Given the description of an element on the screen output the (x, y) to click on. 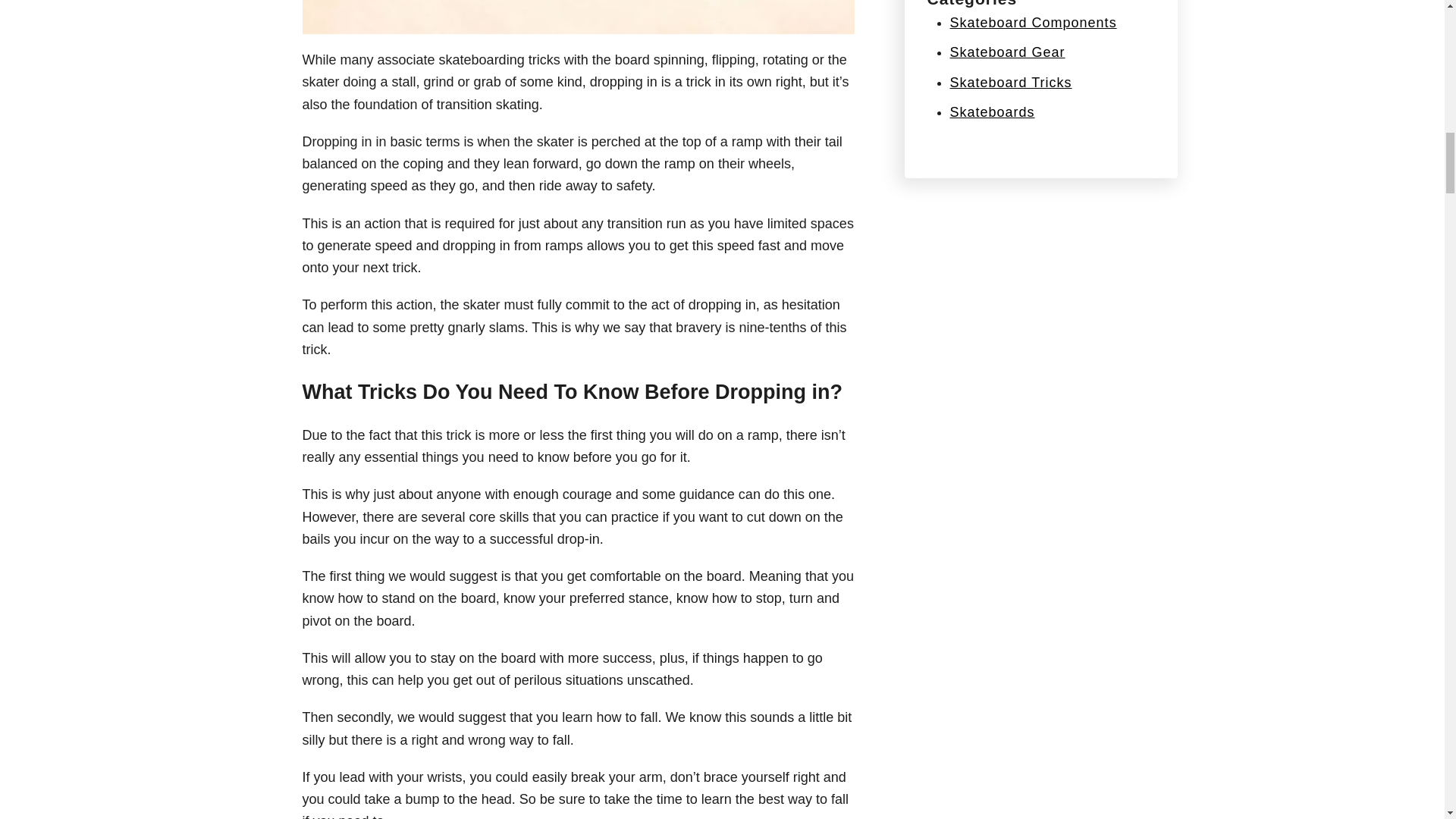
Skateboard Gear (1006, 52)
Skateboard Components (1032, 22)
